Given the description of an element on the screen output the (x, y) to click on. 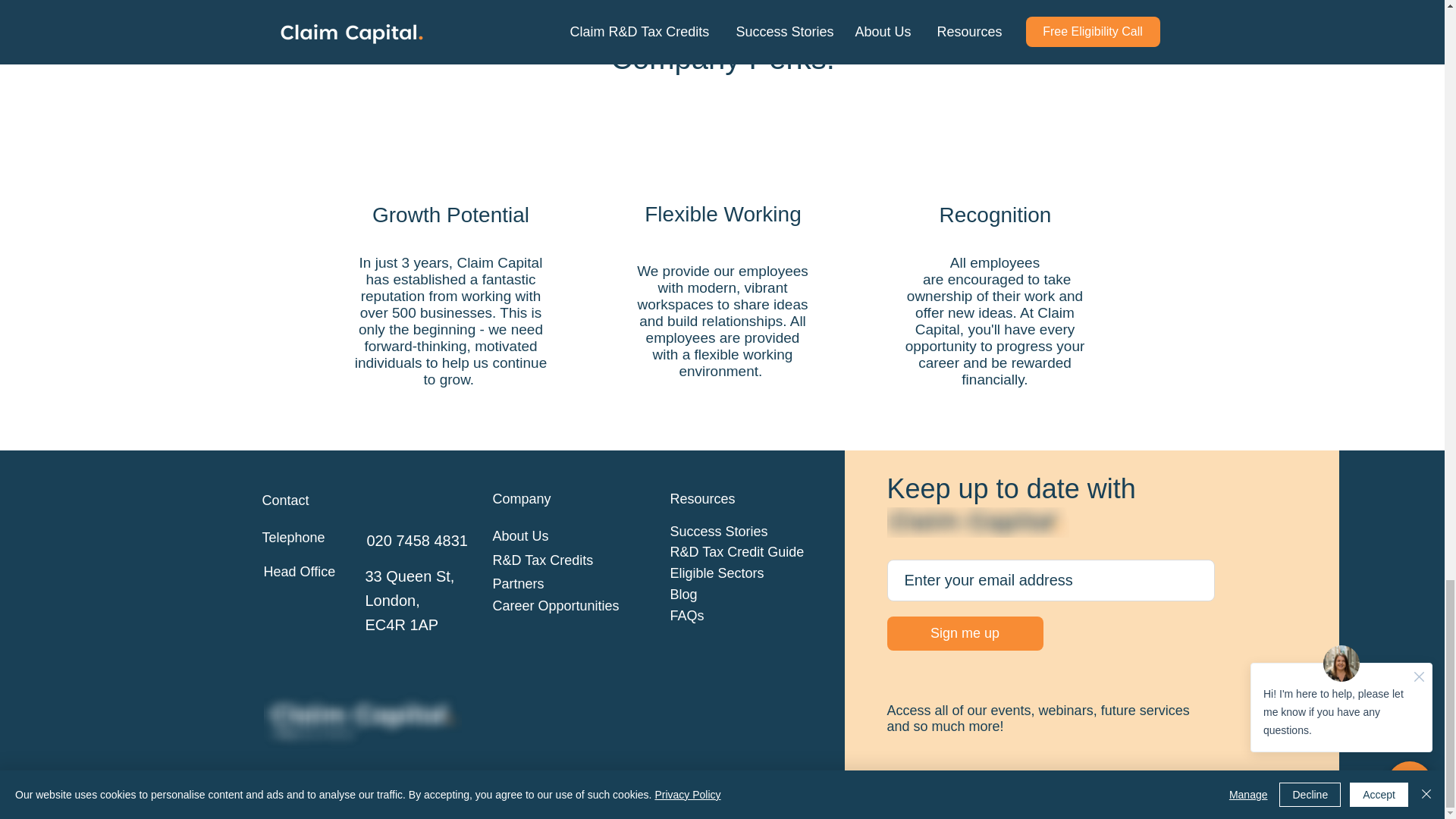
Resources (702, 498)
Apply Now (722, 1)
Privacy Policy (322, 797)
Sign me up (964, 633)
Partners (518, 583)
Success Stories (718, 531)
About Us (520, 535)
FAQs (409, 588)
Career Opportunities (686, 615)
Eligible Sectors (556, 605)
020 7458 4831 (716, 572)
Company (416, 540)
Claim Capital Navy Logo 2022.png (522, 498)
Blog (977, 521)
